Given the description of an element on the screen output the (x, y) to click on. 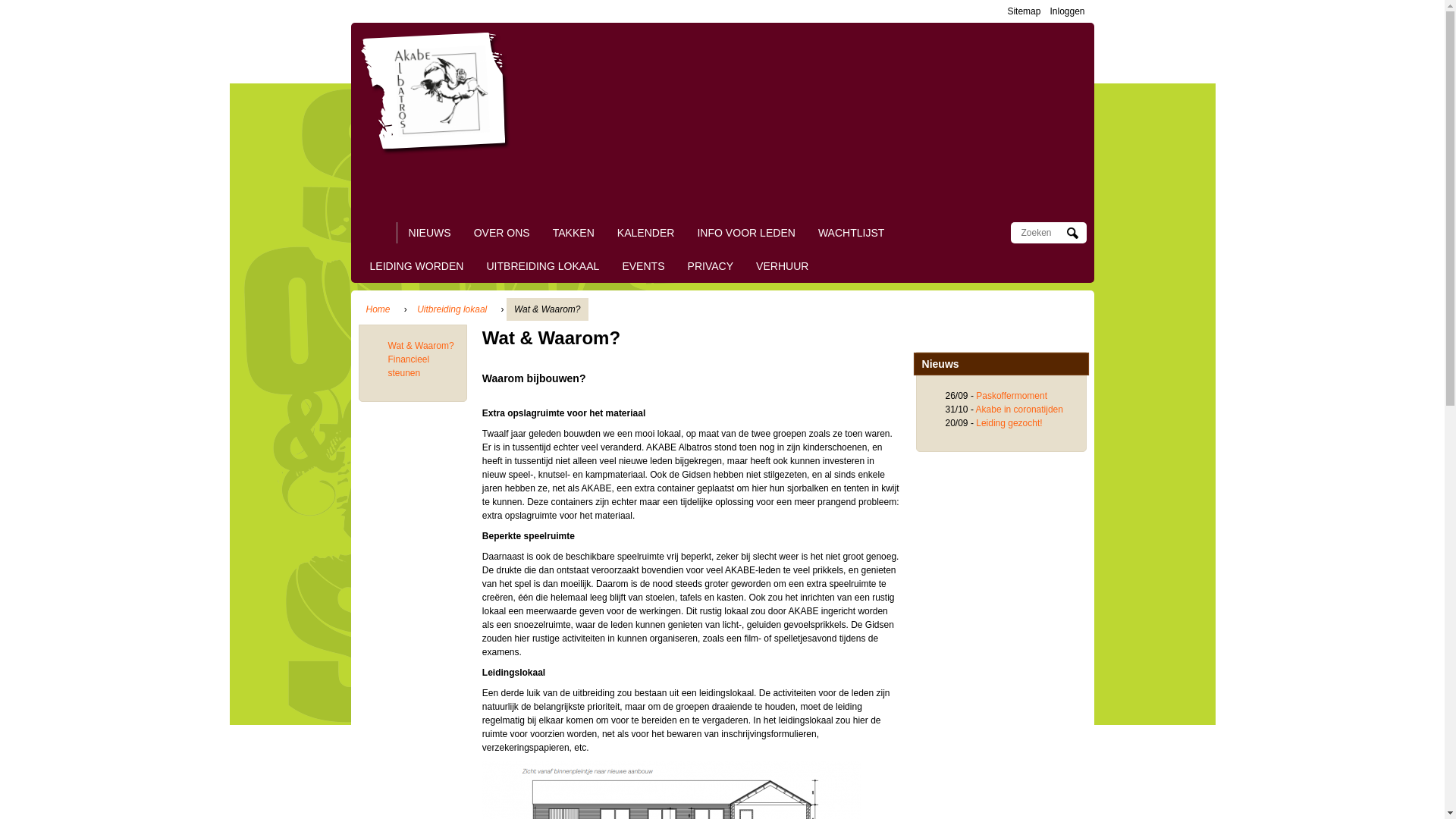
HOME Element type: text (377, 232)
PRIVACY Element type: text (710, 266)
Home Element type: hover (1050, 158)
Akabe in coronatijden Element type: text (1019, 409)
VERHUUR Element type: text (782, 266)
Paskoffermoment Element type: text (1011, 395)
Home Element type: hover (438, 88)
TAKKEN Element type: text (573, 232)
Leiding gezocht! Element type: text (1008, 422)
UITBREIDING LOKAAL Element type: text (542, 266)
NIEUWS Element type: text (428, 232)
Sitemap Element type: text (1023, 11)
Jump to navigation Element type: text (722, 2)
Wat & Waarom? Element type: text (421, 345)
Home Element type: text (377, 309)
Inloggen Element type: text (1066, 11)
LEIDING WORDEN Element type: text (417, 266)
Financieel steunen Element type: text (408, 366)
OVER ONS Element type: text (501, 232)
Geef de woorden op waarnaar u wilt zoeken. Element type: hover (1041, 232)
KALENDER Element type: text (645, 232)
INFO VOOR LEDEN Element type: text (745, 232)
WACHTLIJST Element type: text (851, 232)
Uitbreiding lokaal Element type: text (451, 309)
EVENTS Element type: text (642, 266)
